Given the description of an element on the screen output the (x, y) to click on. 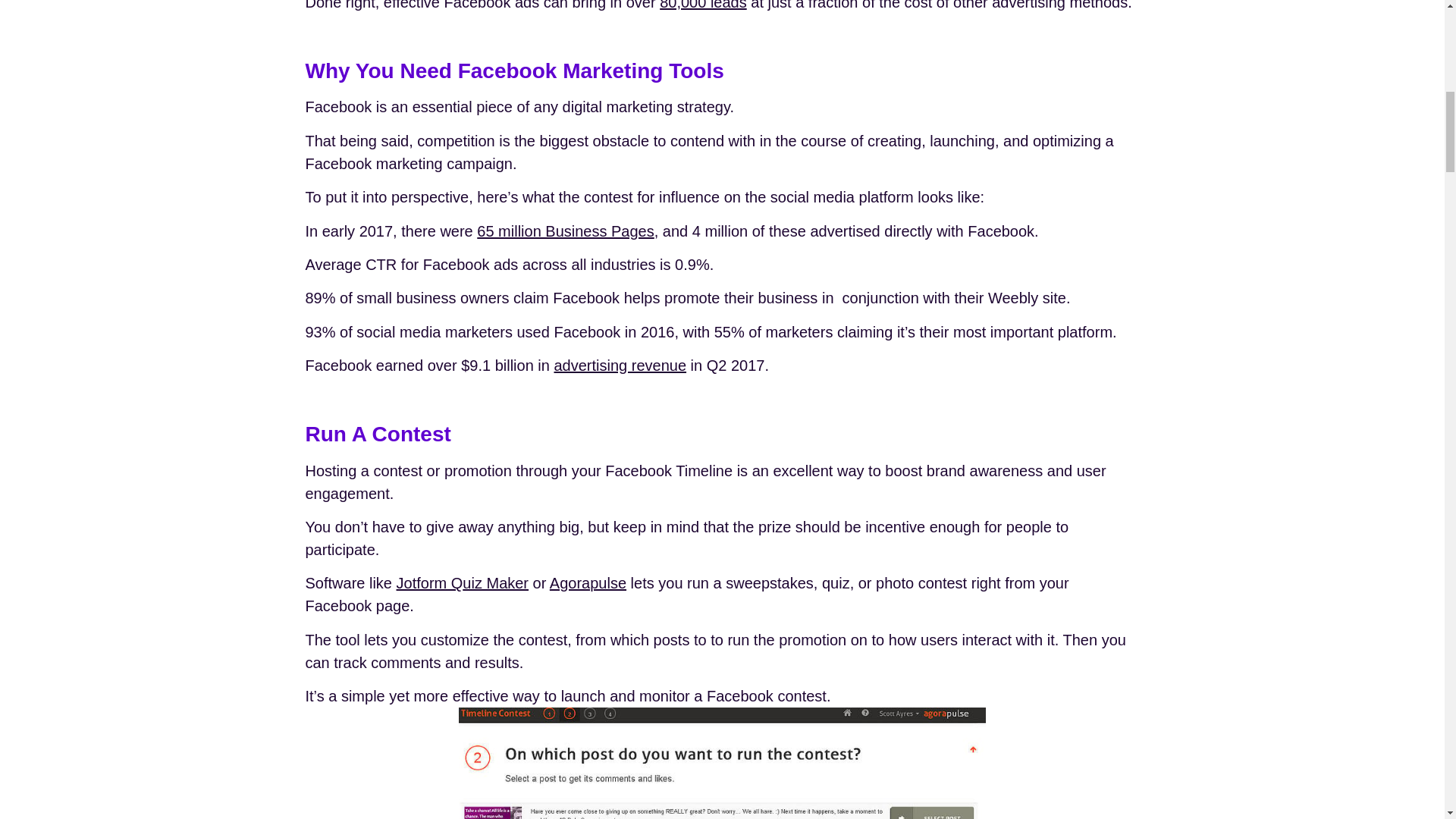
65 million Business Pages (565, 230)
advertising revenue (619, 365)
Jotform Quiz Maker (462, 582)
Agorapulse (588, 582)
80,000 leads (702, 5)
